Given the description of an element on the screen output the (x, y) to click on. 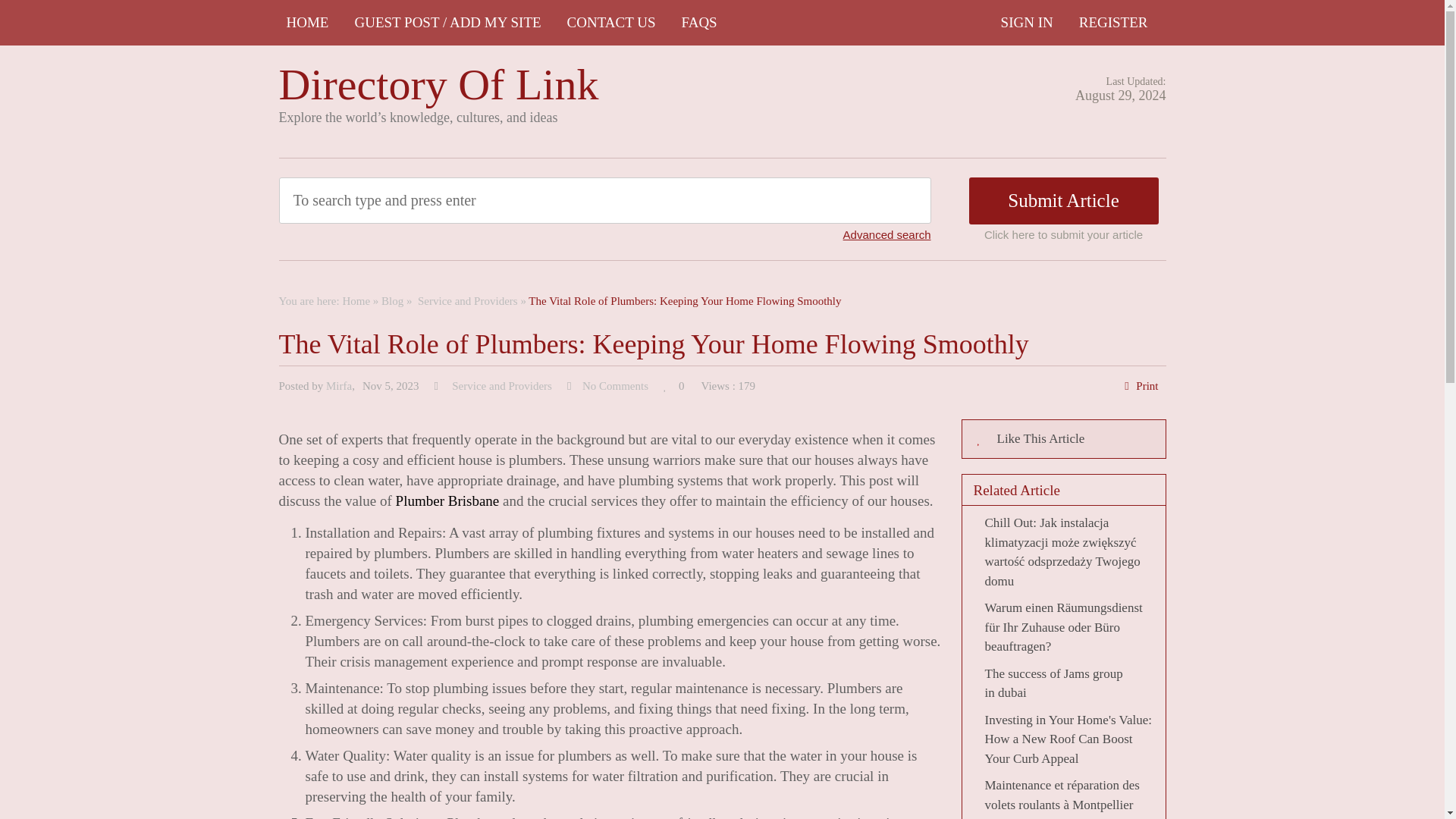
 Service and Providers (465, 300)
To search type and press enter (535, 200)
Advanced search (887, 234)
Like This Article (1063, 438)
Print (1146, 386)
Blog (392, 300)
 Service and Providers (500, 386)
The success of Jams group in dubai (1053, 682)
No Comments (614, 386)
HOME (307, 22)
